Given the description of an element on the screen output the (x, y) to click on. 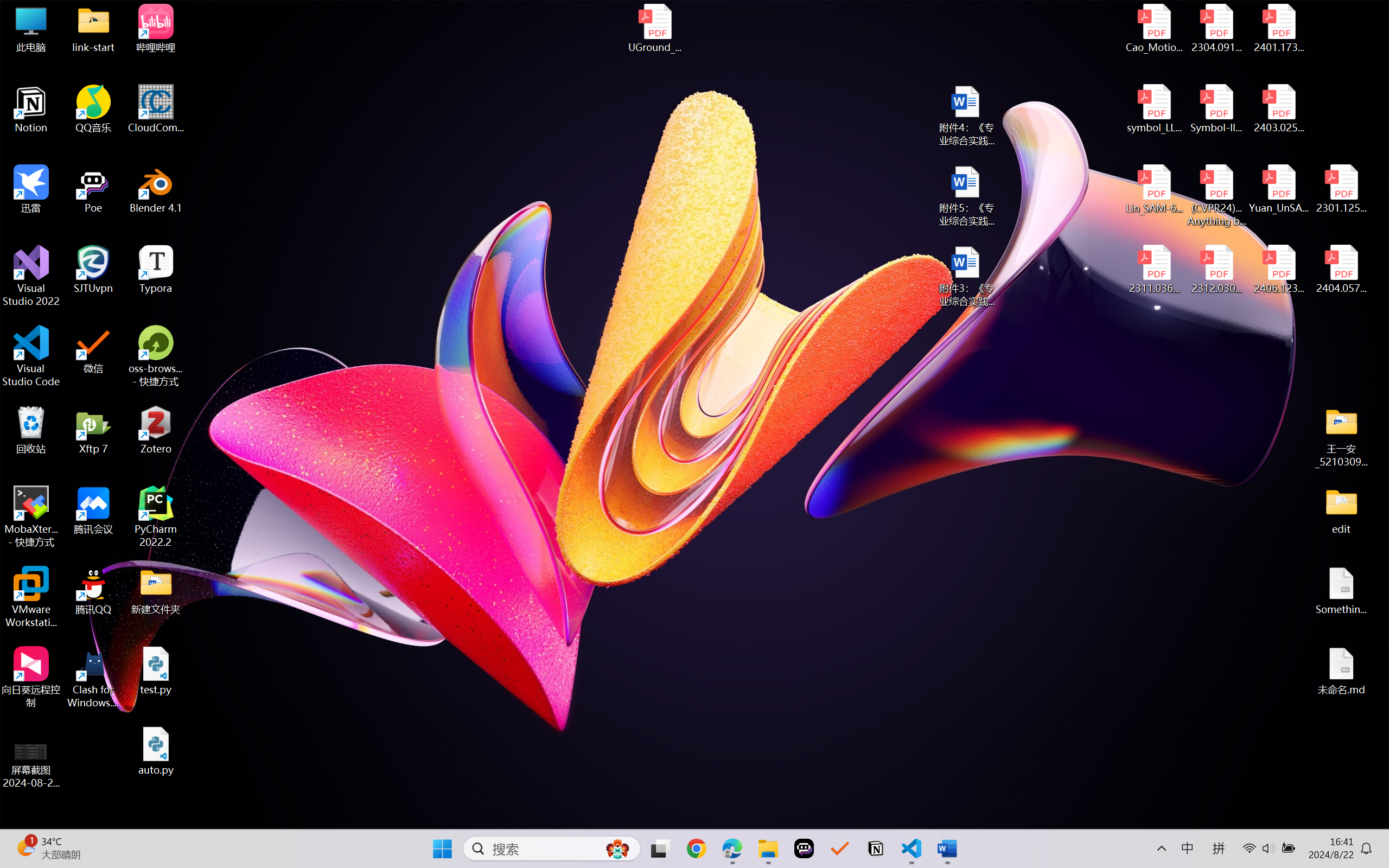
test.py (156, 670)
Xftp 7 (93, 430)
Something.md (1340, 591)
symbol_LLM.pdf (1154, 109)
2404.05719v1.pdf (1340, 269)
SJTUvpn (93, 269)
